Given the description of an element on the screen output the (x, y) to click on. 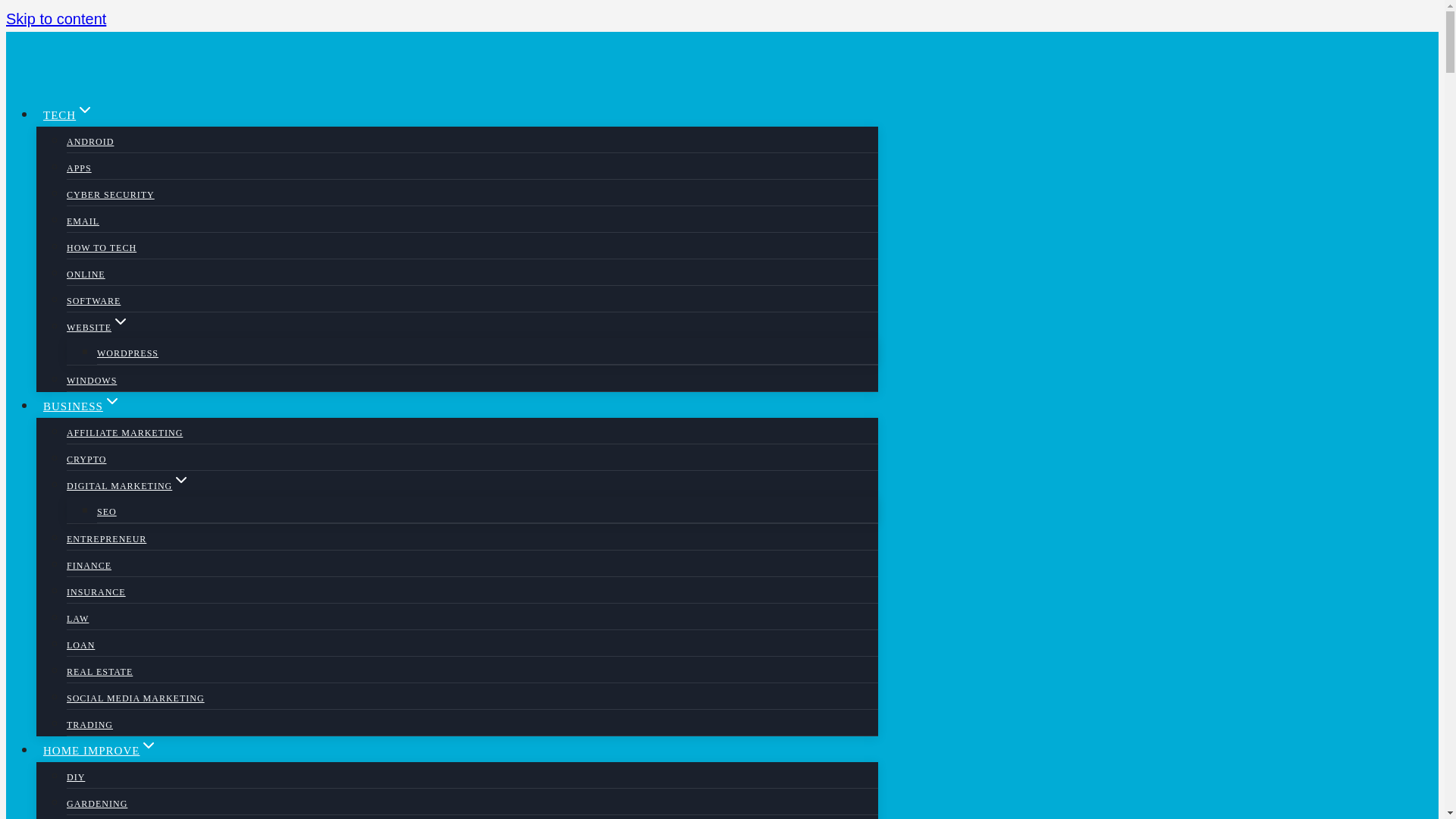
WINDOWS (91, 380)
BUSINESSEXPAND (82, 406)
AFFILIATE MARKETING (124, 432)
WEBSITEEXPAND (97, 327)
LOAN (80, 645)
INSURANCE (95, 592)
EXPAND (84, 109)
TRADING (89, 724)
SEO (106, 511)
EXPAND (180, 479)
SOCIAL MEDIA MARKETING (135, 697)
CRYPTO (86, 459)
WORDPRESS (127, 353)
HOME IMPROVEEXPAND (100, 750)
EXPAND (111, 401)
